Given the description of an element on the screen output the (x, y) to click on. 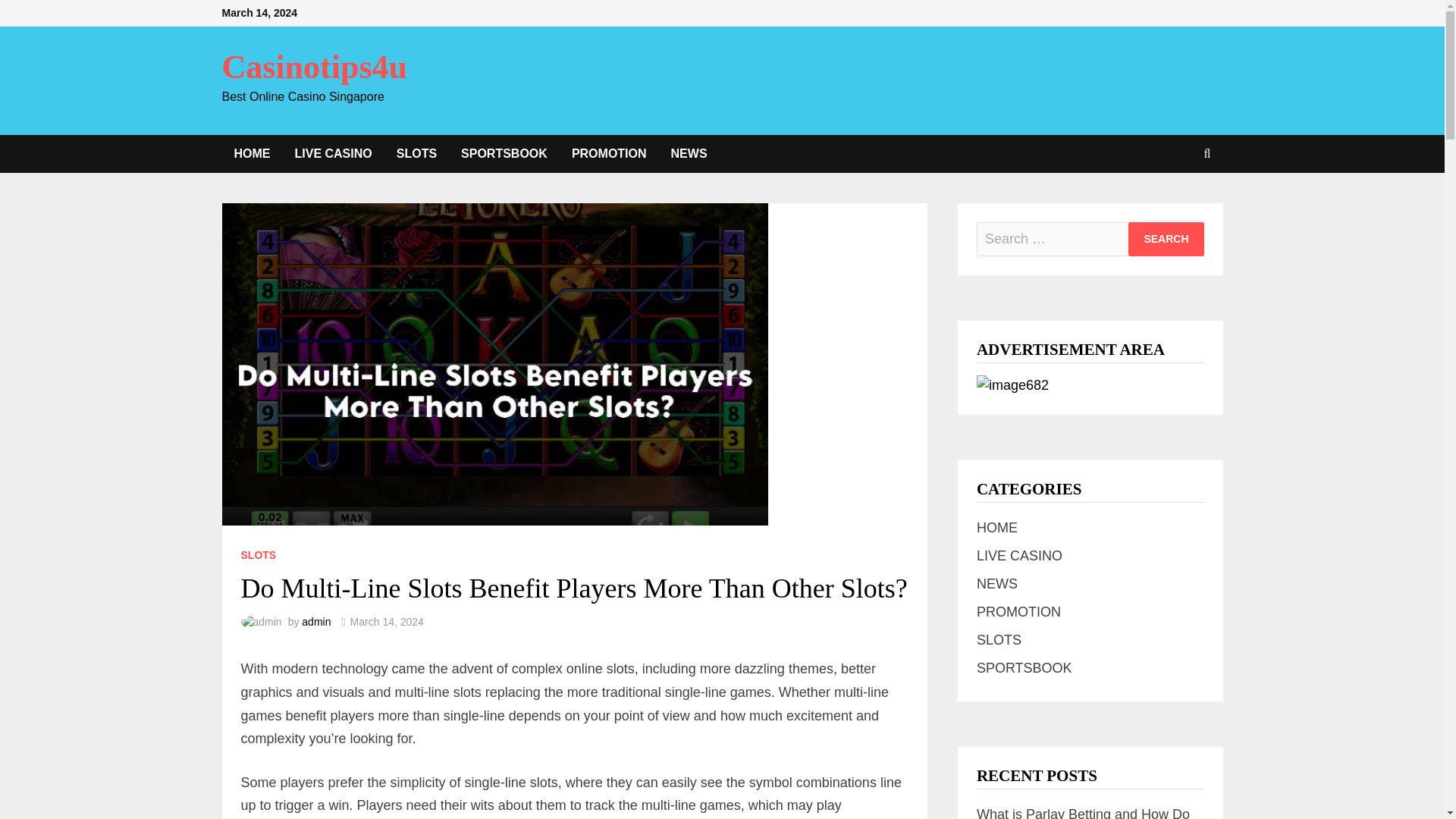
NEWS (689, 153)
LIVE CASINO (333, 153)
SLOTS (999, 639)
HOME (251, 153)
SLOTS (258, 554)
PROMOTION (1018, 611)
Casinotips4u (314, 66)
Search (1166, 238)
March 14, 2024 (386, 621)
SLOTS (416, 153)
